Given the description of an element on the screen output the (x, y) to click on. 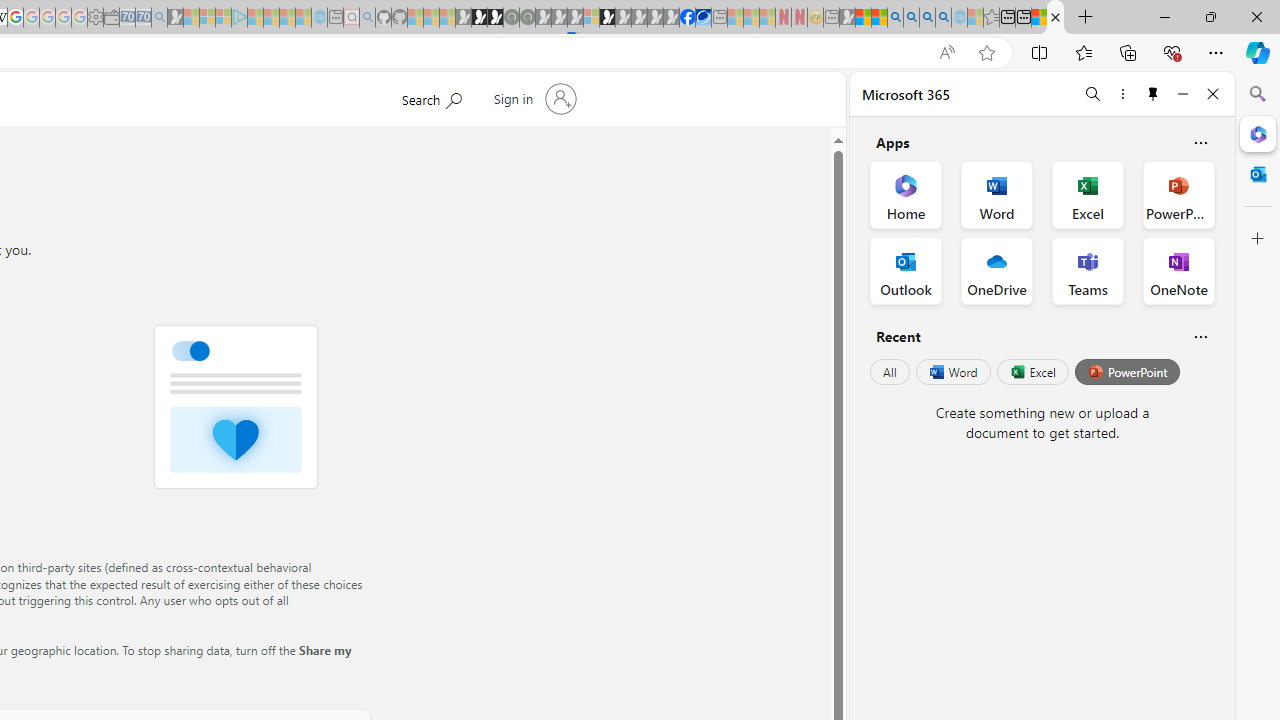
Search Microsoft.com (431, 97)
Google Chrome Internet Browser Download - Search Images (943, 17)
PowerPoint (1127, 372)
Word (952, 372)
